Given the description of an element on the screen output the (x, y) to click on. 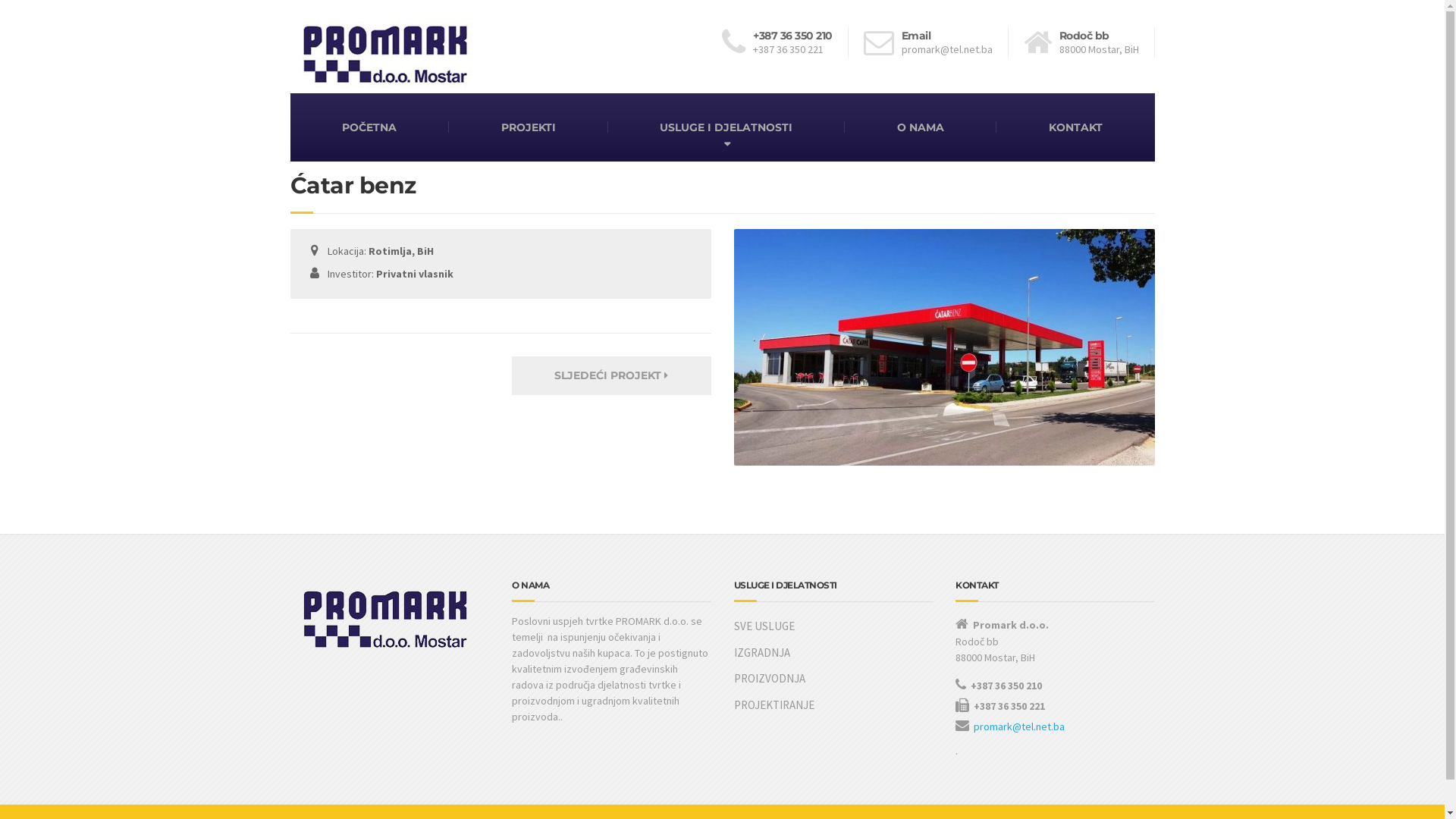
KONTAKT Element type: text (1075, 127)
SVE USLUGE Element type: text (833, 626)
PROJEKTIRANJE Element type: text (833, 705)
PROIZVODNJA Element type: text (833, 678)
promark@tel.net.ba Element type: text (1018, 726)
O NAMA Element type: text (920, 127)
Email
promark@tel.net.ba Element type: text (934, 42)
USLUGE I DJELATNOSTI Element type: text (726, 127)
PROJEKTI Element type: text (528, 127)
IZGRADNJA Element type: text (833, 653)
+387 36 350 210
+387 36 350 221 Element type: text (784, 42)
